Given the description of an element on the screen output the (x, y) to click on. 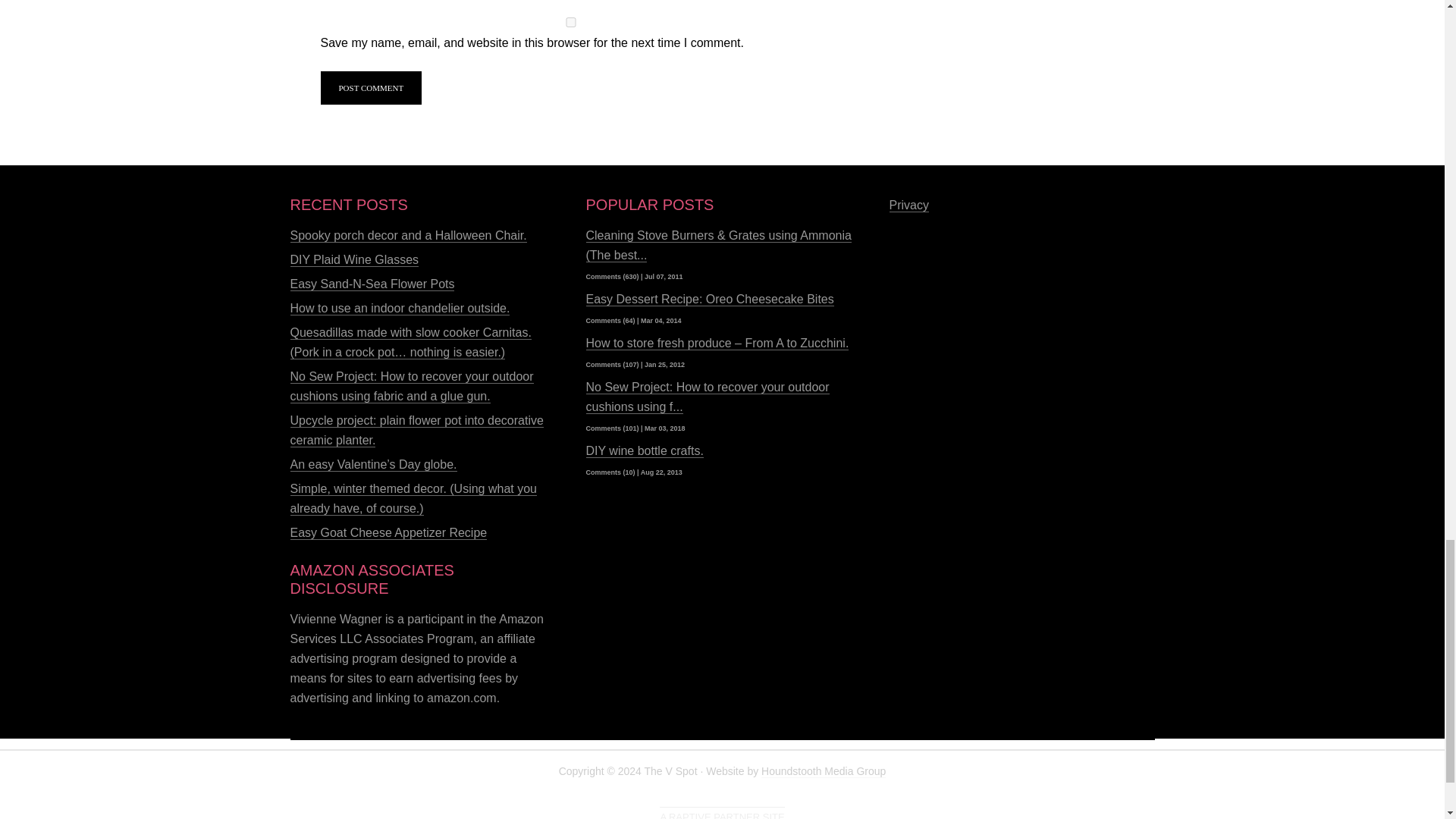
Post Comment (371, 87)
DIY wine bottle crafts. (644, 450)
yes (570, 22)
Easy Dessert Recipe: Oreo Cheesecake Bites (708, 299)
